Given the description of an element on the screen output the (x, y) to click on. 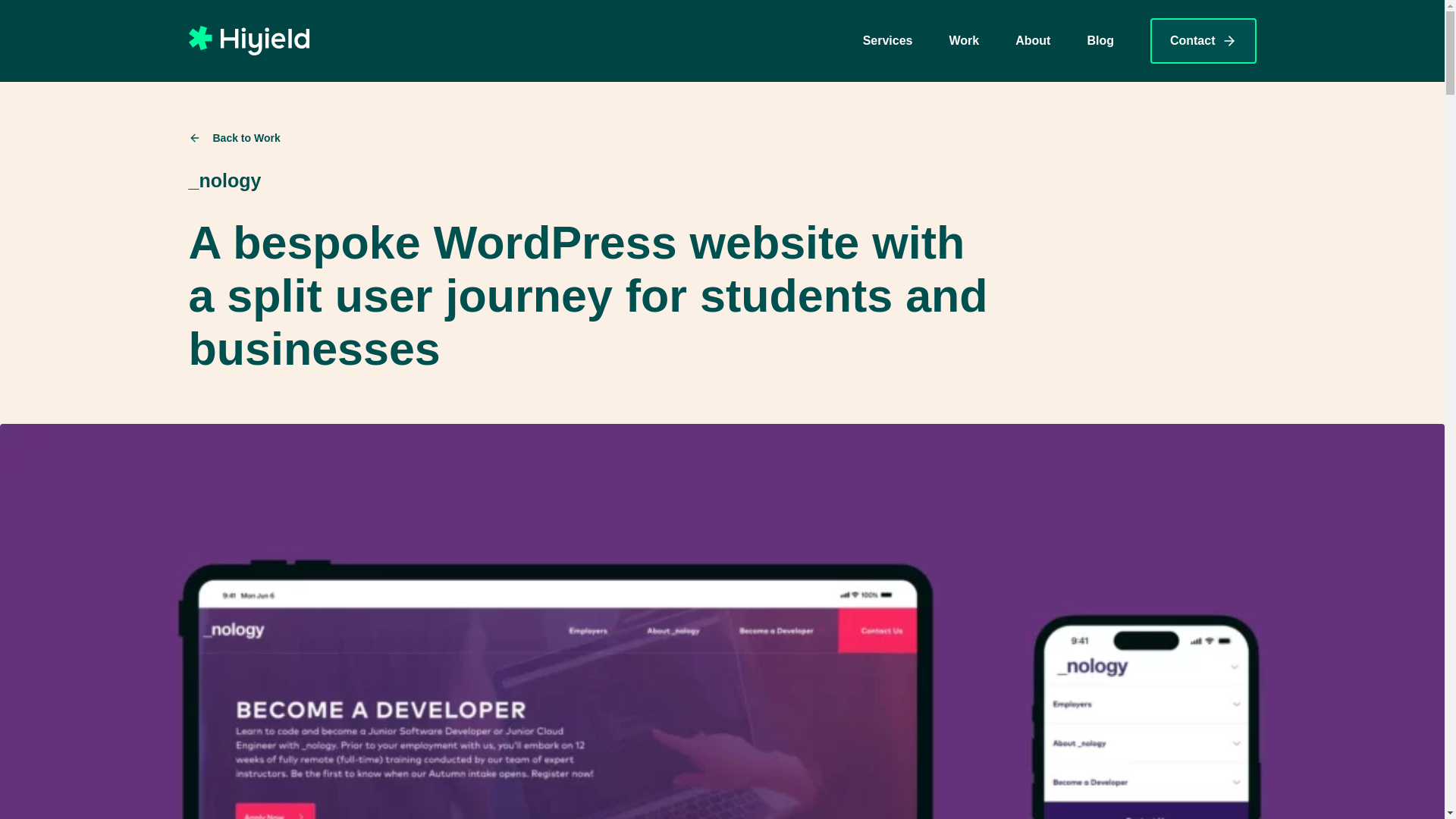
Services (887, 40)
Contact (1203, 40)
Back to Work (587, 137)
Work (963, 40)
Blog (1099, 40)
About (1031, 40)
